Given the description of an element on the screen output the (x, y) to click on. 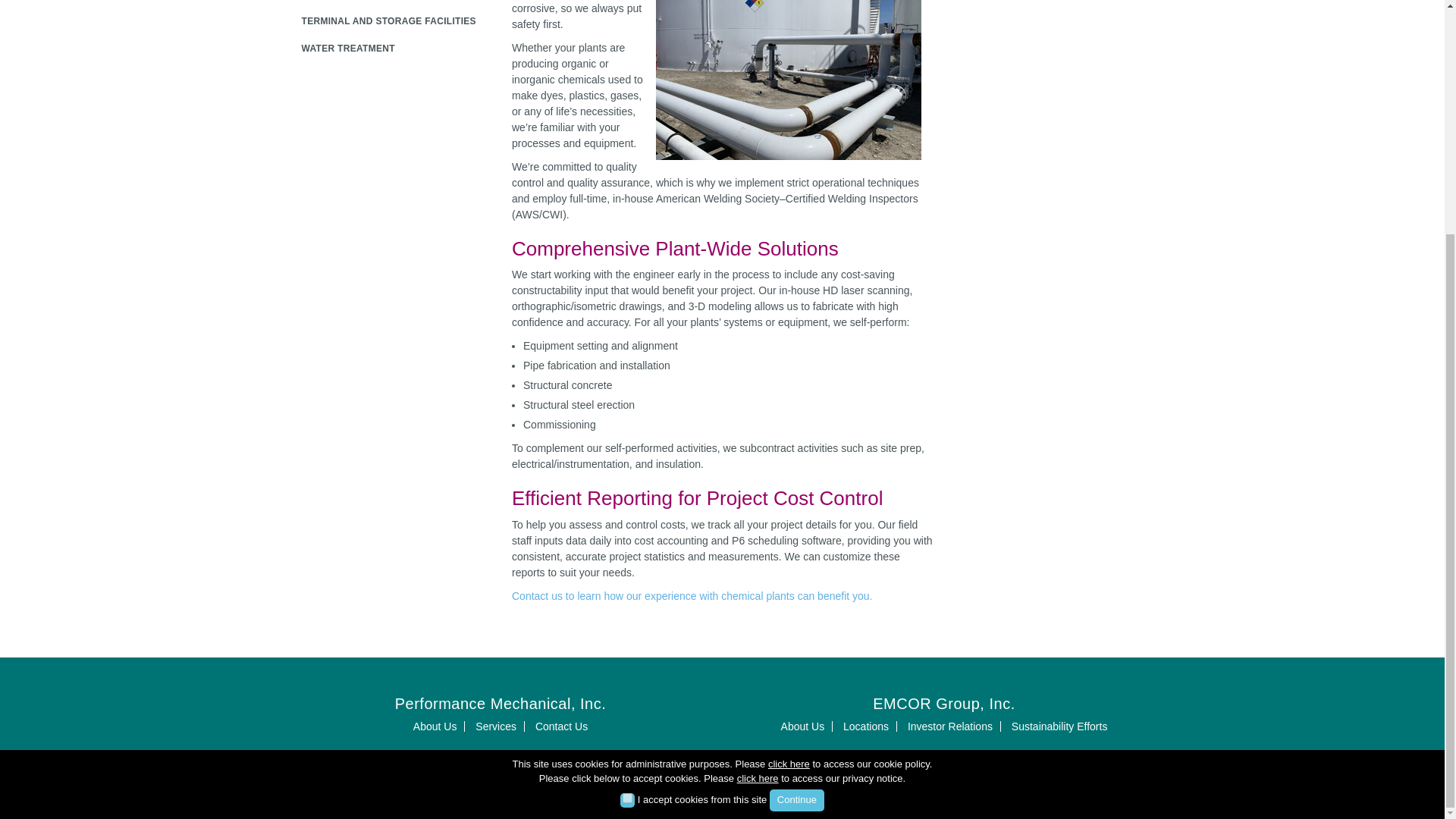
Continue (797, 481)
on (627, 479)
